Given the description of an element on the screen output the (x, y) to click on. 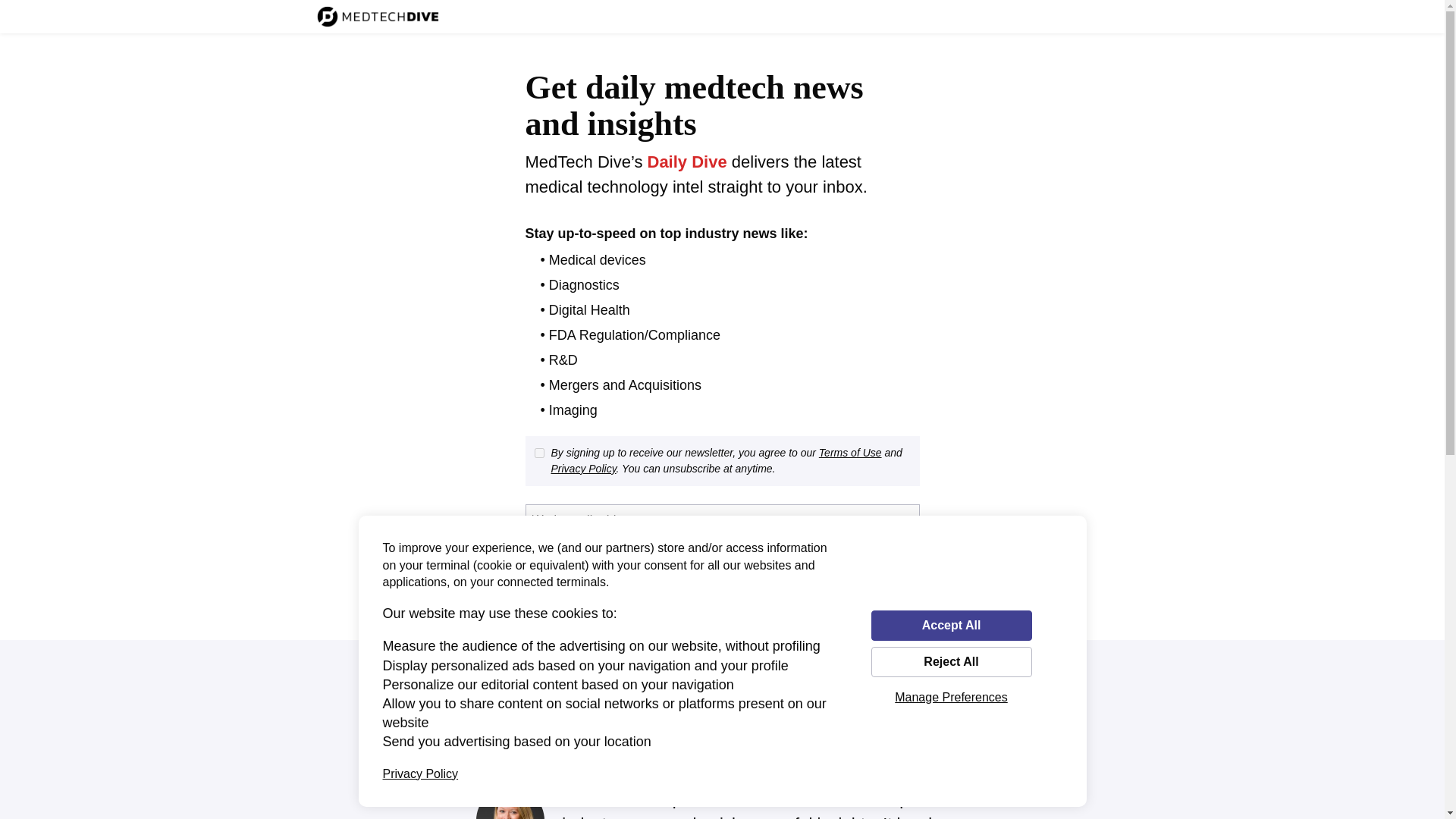
Manage Preferences (950, 697)
Reject All (950, 662)
1 (538, 452)
Sign up (572, 563)
Accept All (950, 625)
Sign up (572, 563)
Terms of Use (850, 452)
Privacy Policy (582, 468)
Privacy Policy (419, 773)
